Given the description of an element on the screen output the (x, y) to click on. 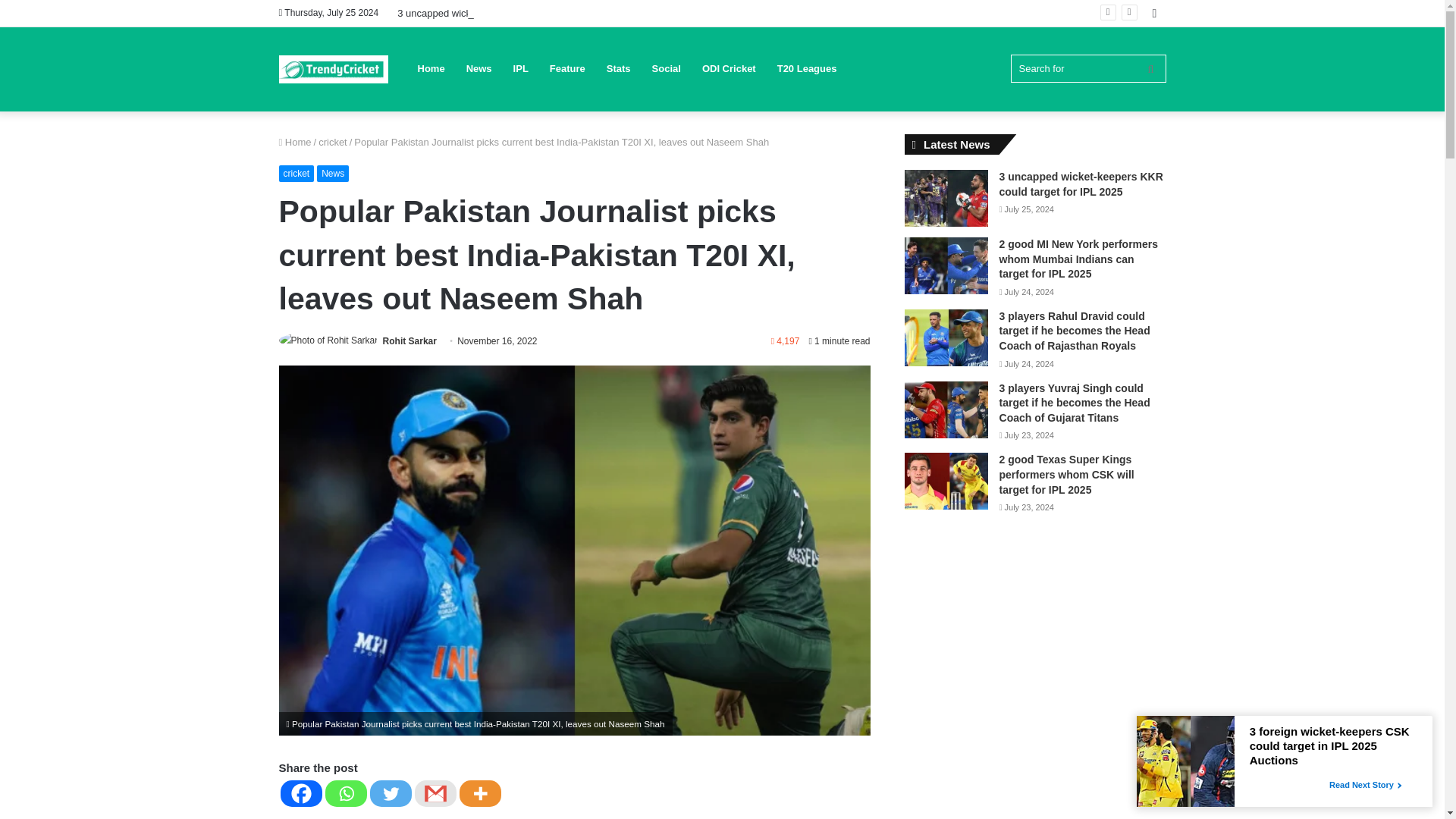
Whatsapp (345, 793)
T20 Leagues (807, 68)
Rohit Sarkar (409, 340)
cricket (296, 173)
More (480, 793)
cricket (332, 142)
Twitter (390, 793)
Facebook (301, 793)
Search for (1088, 68)
News (333, 173)
Google Gmail (434, 793)
Home (295, 142)
3 uncapped wicket-keepers KKR could target for IPL 2025 (523, 12)
Rohit Sarkar (409, 340)
